Given the description of an element on the screen output the (x, y) to click on. 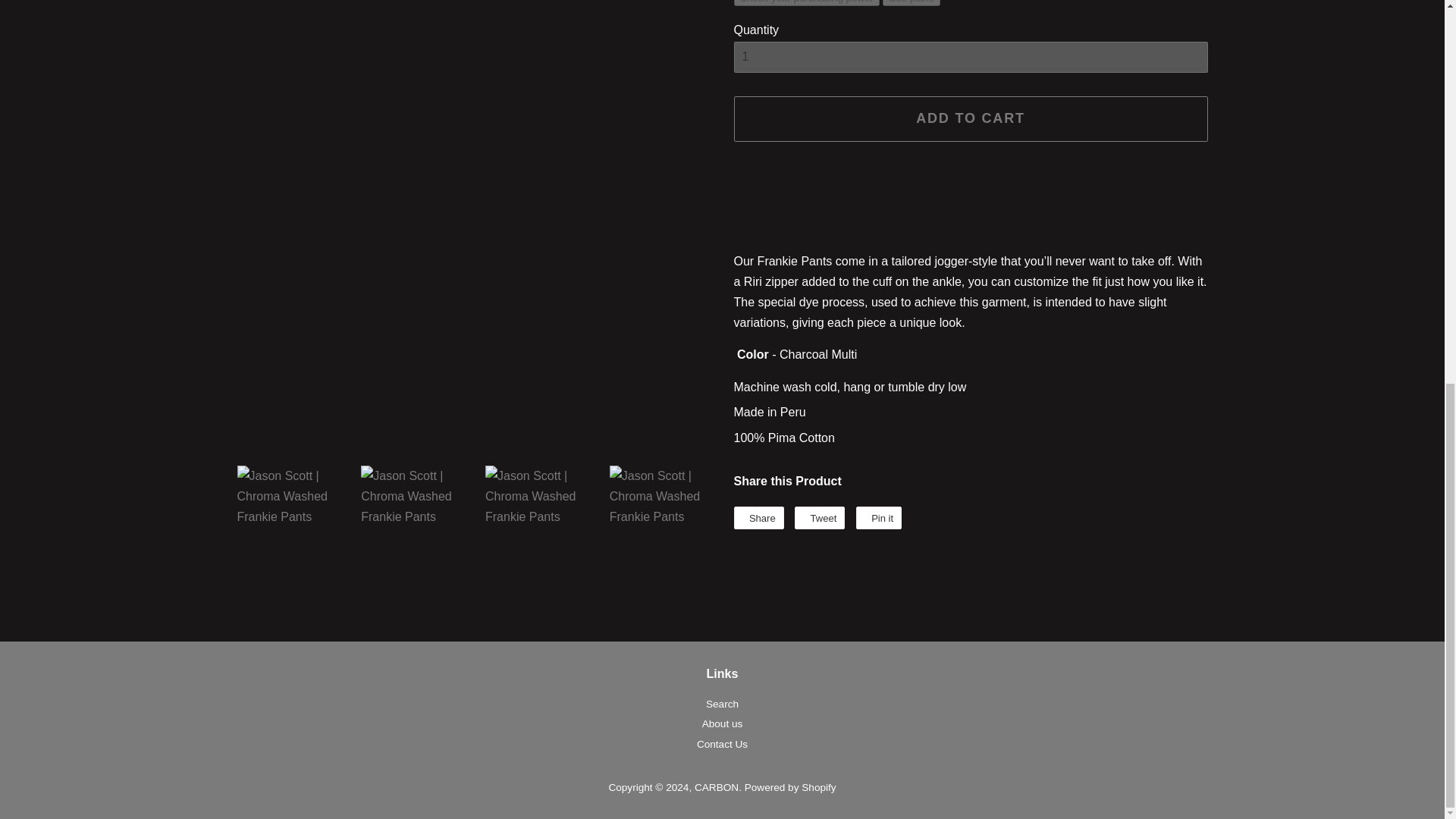
1 (970, 56)
Share on Facebook (758, 517)
Pin on Pinterest (878, 517)
Tweet on Twitter (819, 517)
